Given the description of an element on the screen output the (x, y) to click on. 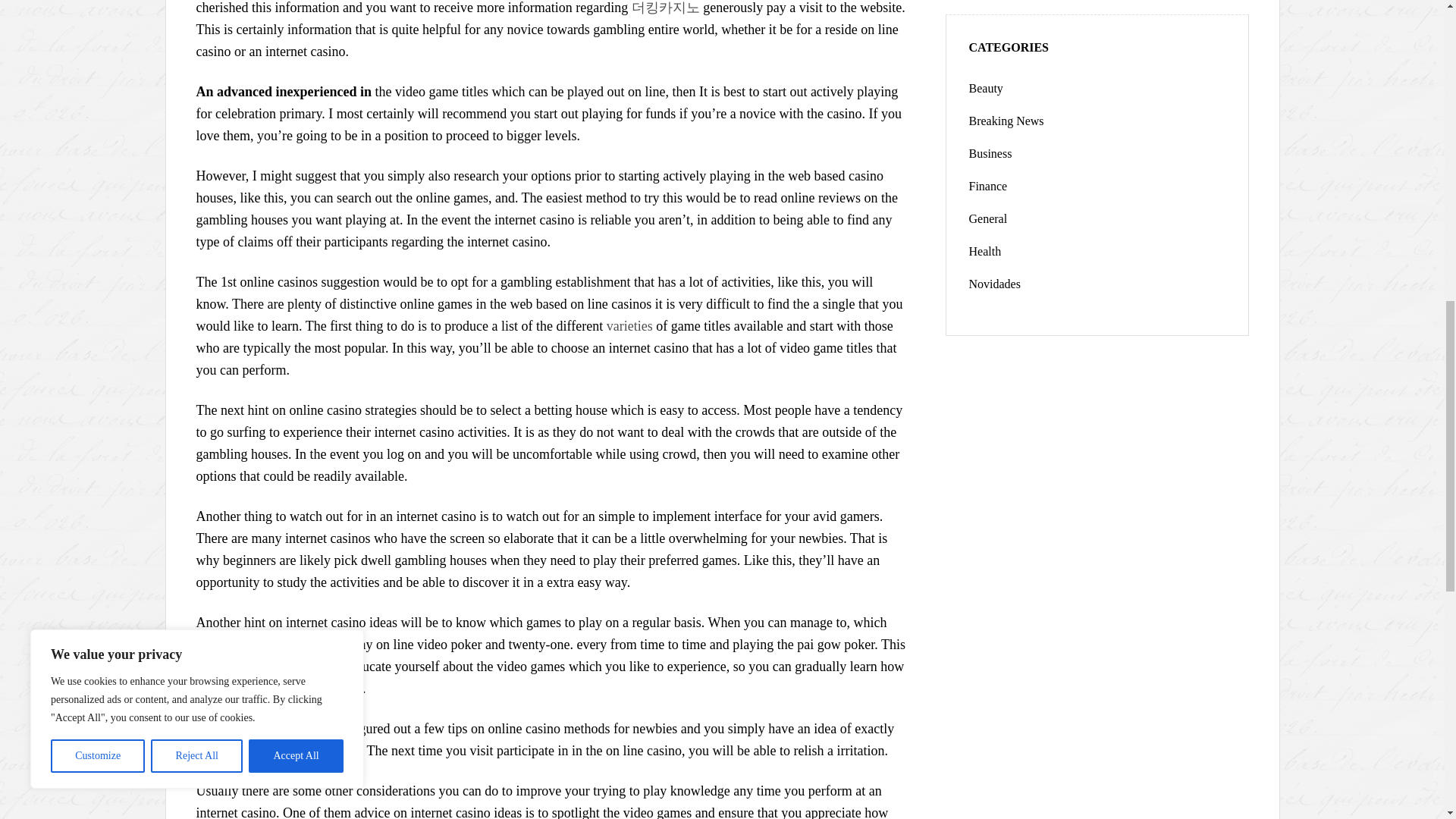
varieties (629, 325)
